Given the description of an element on the screen output the (x, y) to click on. 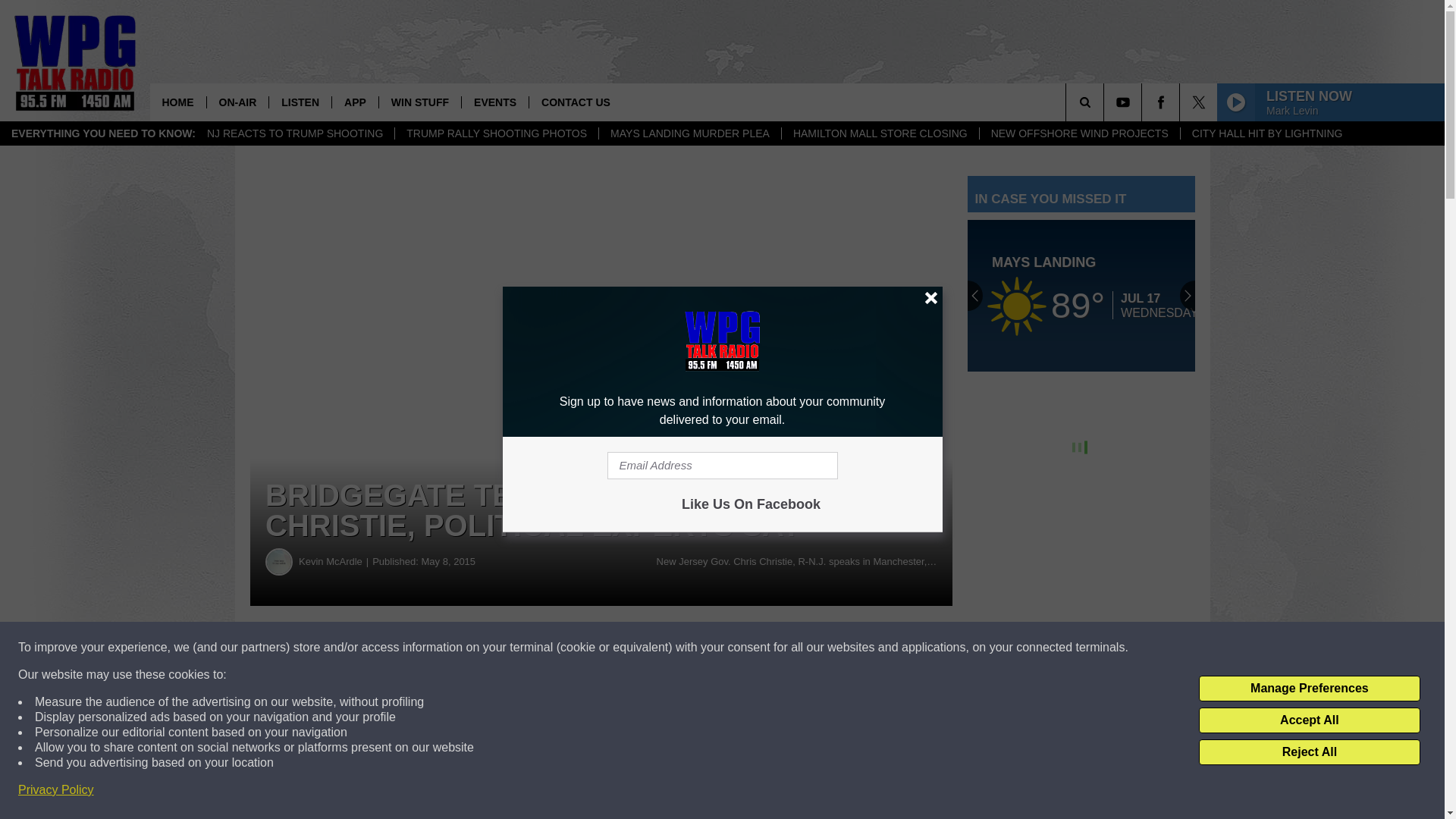
Manage Preferences (1309, 688)
EVENTS (494, 102)
HAMILTON MALL STORE CLOSING (879, 133)
Email Address (722, 465)
SEARCH (1106, 102)
WIN STUFF (419, 102)
Share on Twitter (741, 647)
SEARCH (1106, 102)
Privacy Policy (55, 789)
MAYS LANDING MURDER PLEA (689, 133)
CITY HALL HIT BY LIGHTNING (1266, 133)
South Jersey Weather (1081, 295)
NJ REACTS TO TRUMP SHOOTING (294, 133)
Accept All (1309, 720)
LISTEN (299, 102)
